Given the description of an element on the screen output the (x, y) to click on. 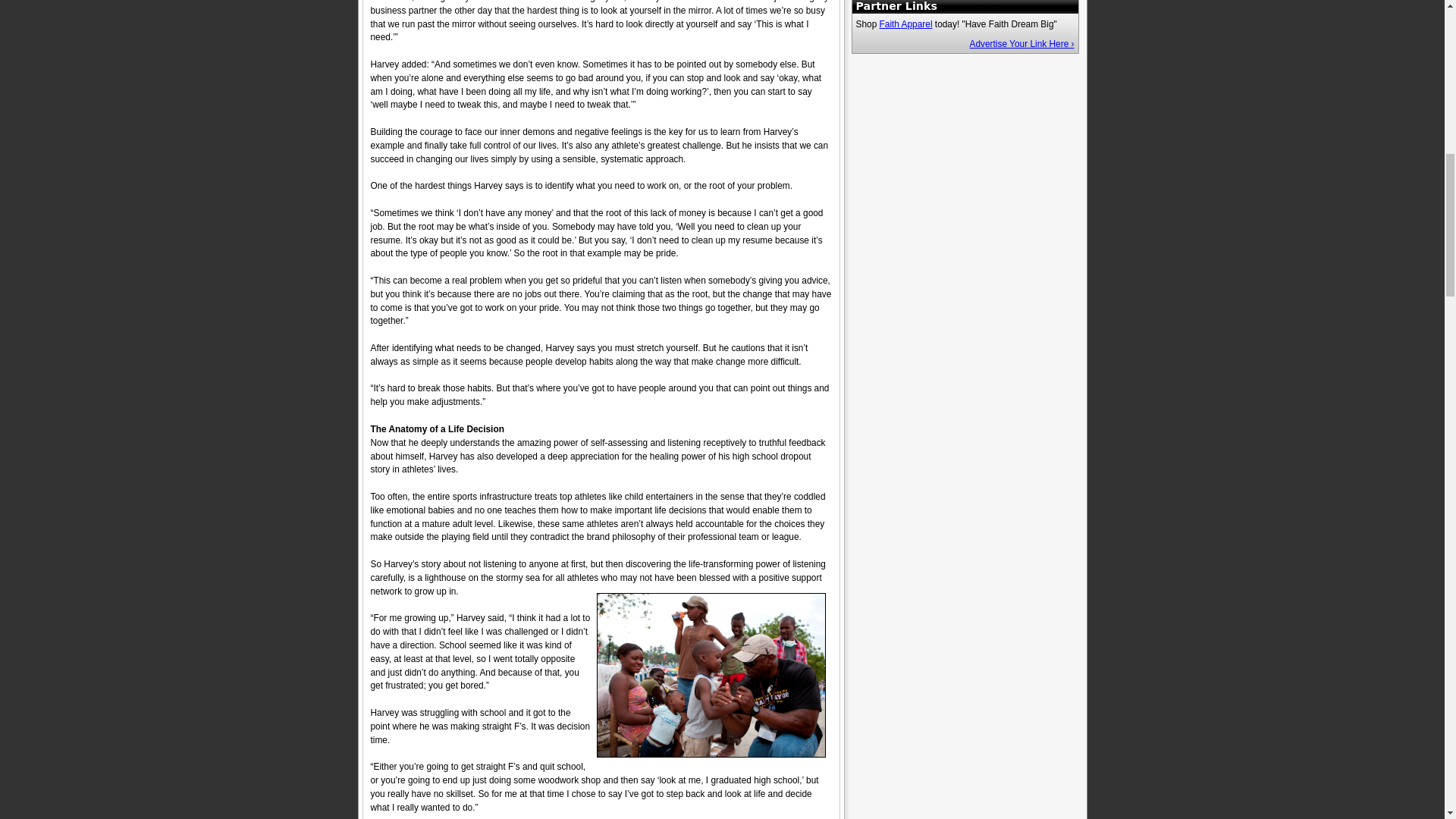
Sign-up for advertising on AccessAthletes.com (1021, 43)
